Given the description of an element on the screen output the (x, y) to click on. 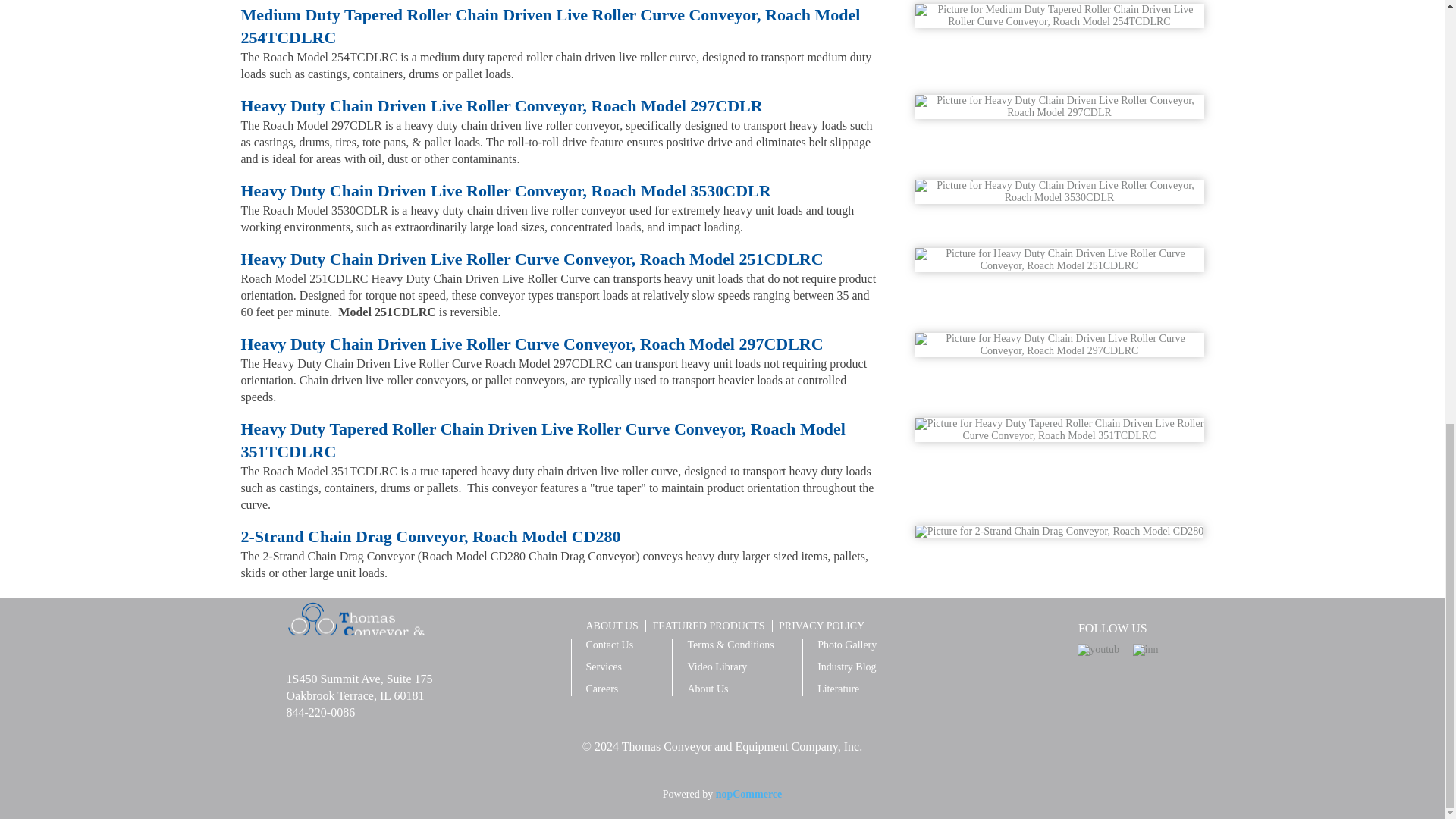
2-Strand Chain Drag Conveyor, Roach Model CD280 (1059, 531)
